Given the description of an element on the screen output the (x, y) to click on. 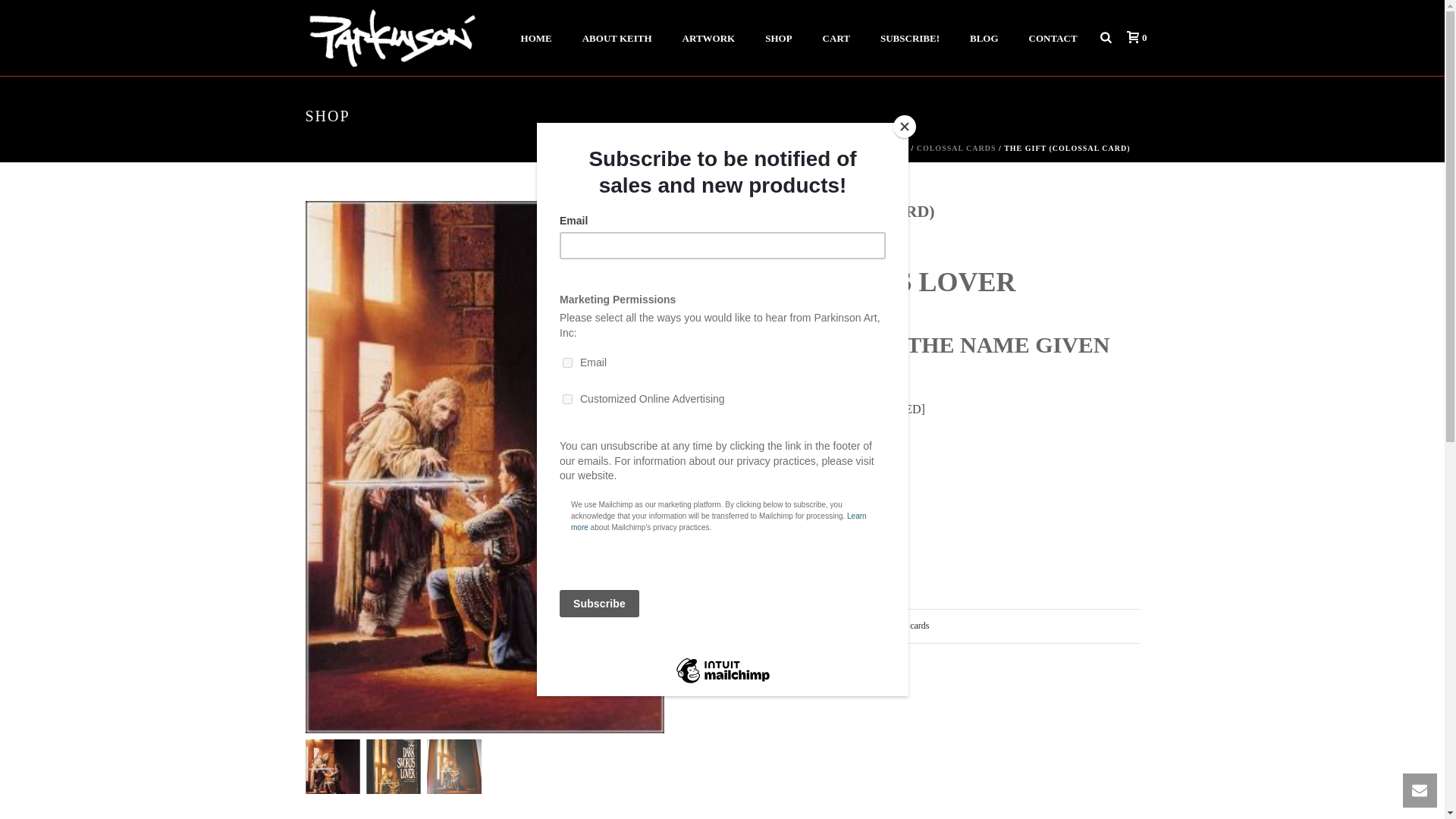
CART (836, 38)
ADD TO CART (832, 492)
CART (836, 38)
0 (1133, 37)
HOME (536, 38)
SHOP (777, 38)
CONTACT (1053, 38)
COLOSSAL CARDS (956, 148)
BLOG (984, 38)
CONTACT (1053, 38)
ABOUT KEITH (616, 38)
BLOG (984, 38)
Colossal Cards (830, 624)
